Given the description of an element on the screen output the (x, y) to click on. 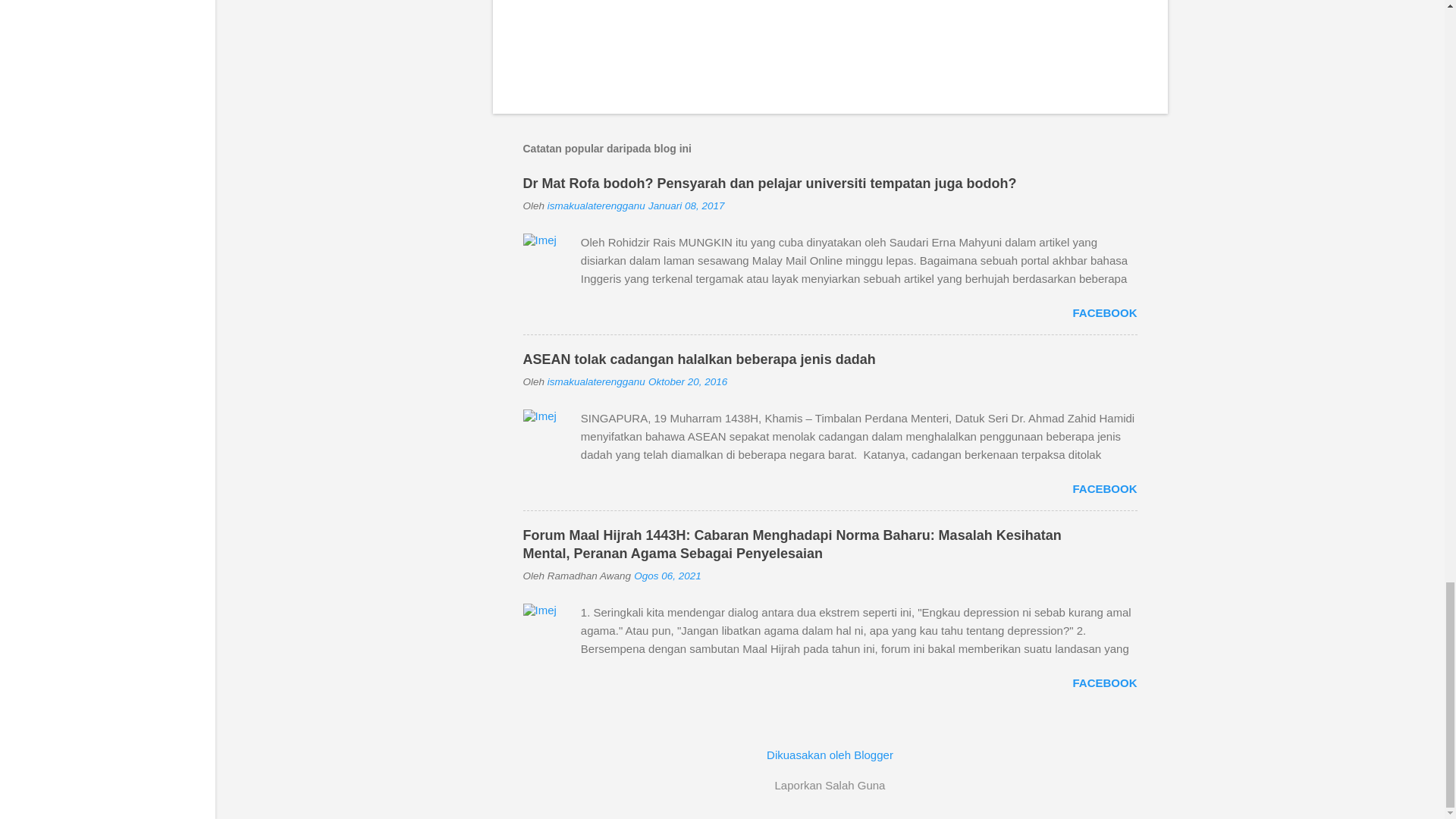
Laporkan Salah Guna (829, 785)
Oktober 20, 2016 (686, 381)
Dikuasakan oleh Blogger (830, 754)
FACEBOOK (1104, 312)
author profile (596, 205)
ismakualaterengganu (596, 381)
Ogos 06, 2021 (667, 575)
ismakualaterengganu (596, 205)
Januari 08, 2017 (686, 205)
FACEBOOK (1104, 488)
ASEAN tolak cadangan halalkan beberapa jenis dadah (699, 359)
FACEBOOK (1104, 682)
